Given the description of an element on the screen output the (x, y) to click on. 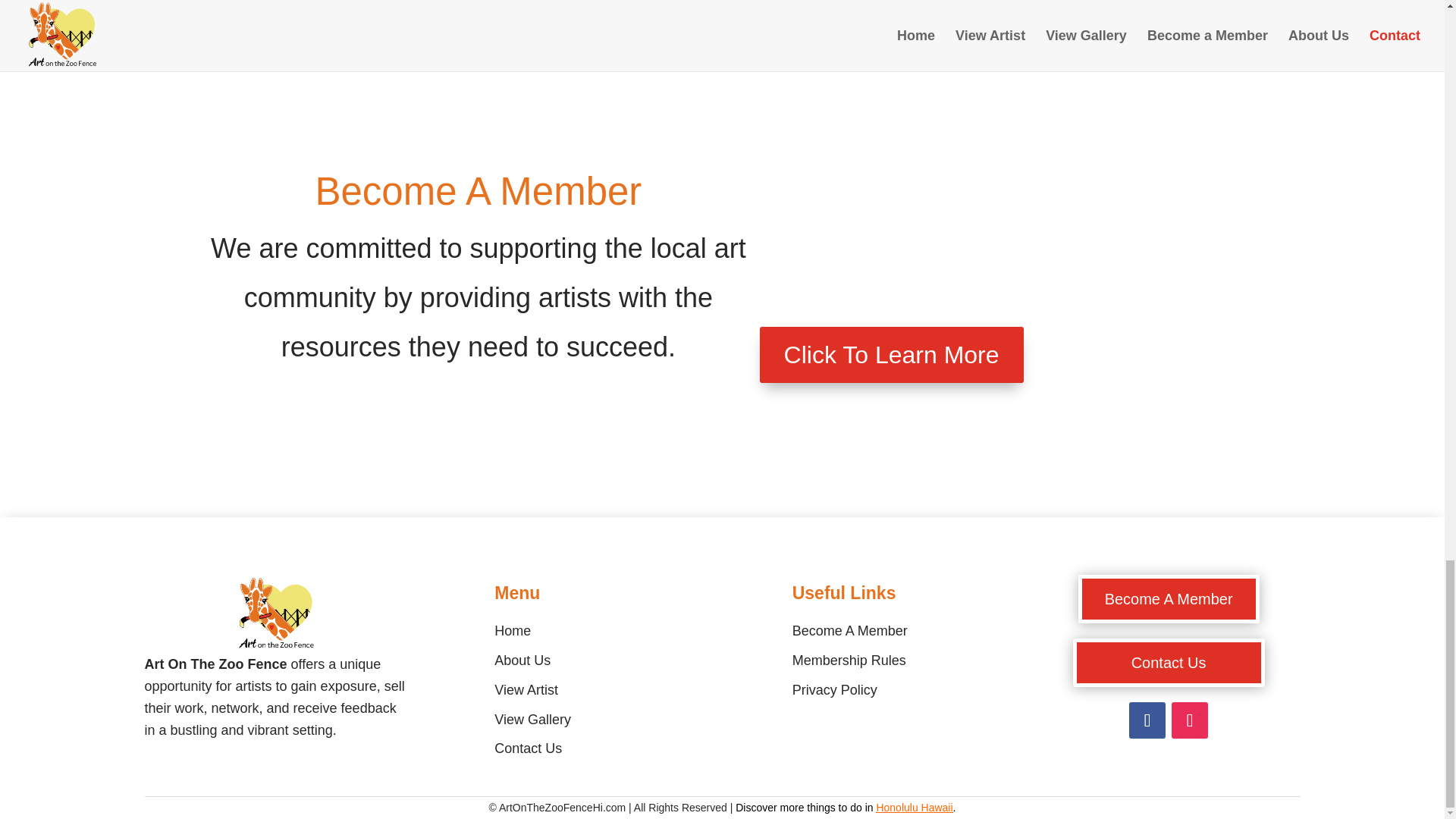
Art On The Zoo Fence (275, 613)
Honolulu Hawaii (914, 807)
Follow on Facebook (1147, 719)
Click To Learn More (891, 354)
Become A Member (1168, 598)
Contact Us (1169, 662)
Follow on Instagram (1190, 719)
